Given the description of an element on the screen output the (x, y) to click on. 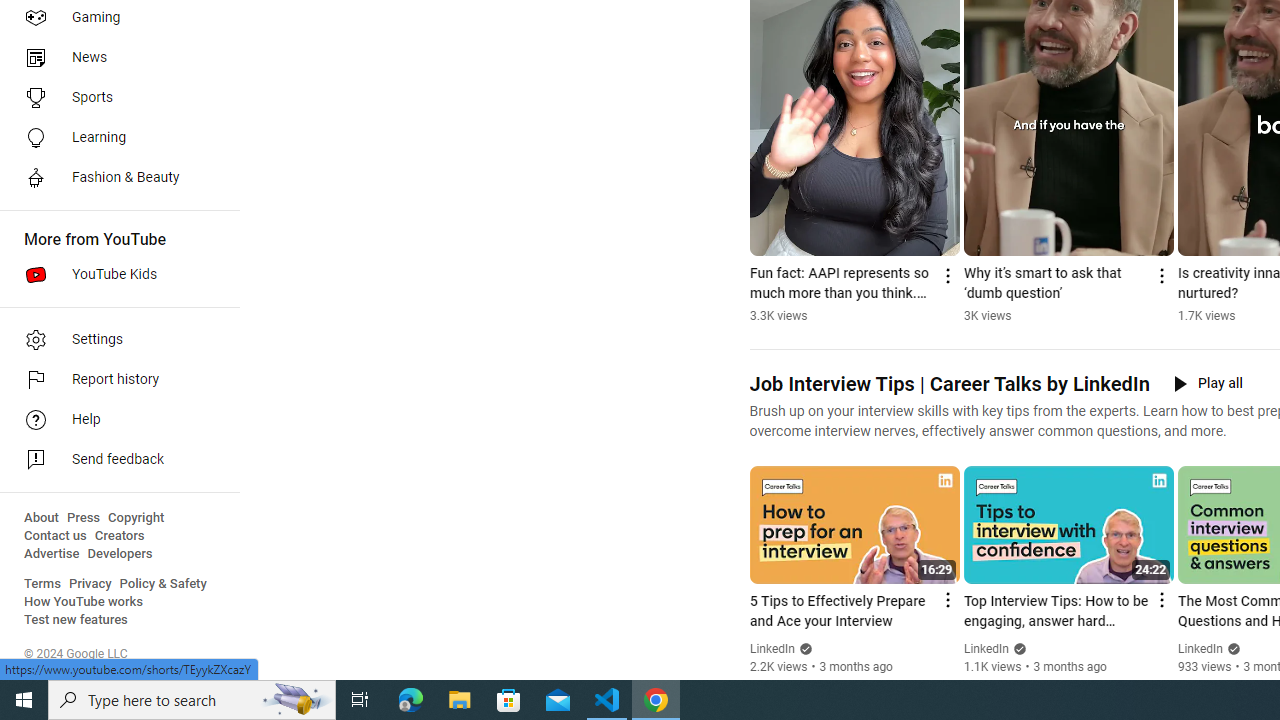
Creators (118, 536)
Developers (120, 554)
Advertise (51, 554)
Copyright (136, 518)
LinkedIn (1200, 649)
Contact us (55, 536)
Job Interview Tips | Career Talks by LinkedIn (948, 384)
Fashion & Beauty (113, 177)
Policy & Safety (163, 584)
More actions (1160, 276)
News (113, 57)
